Given the description of an element on the screen output the (x, y) to click on. 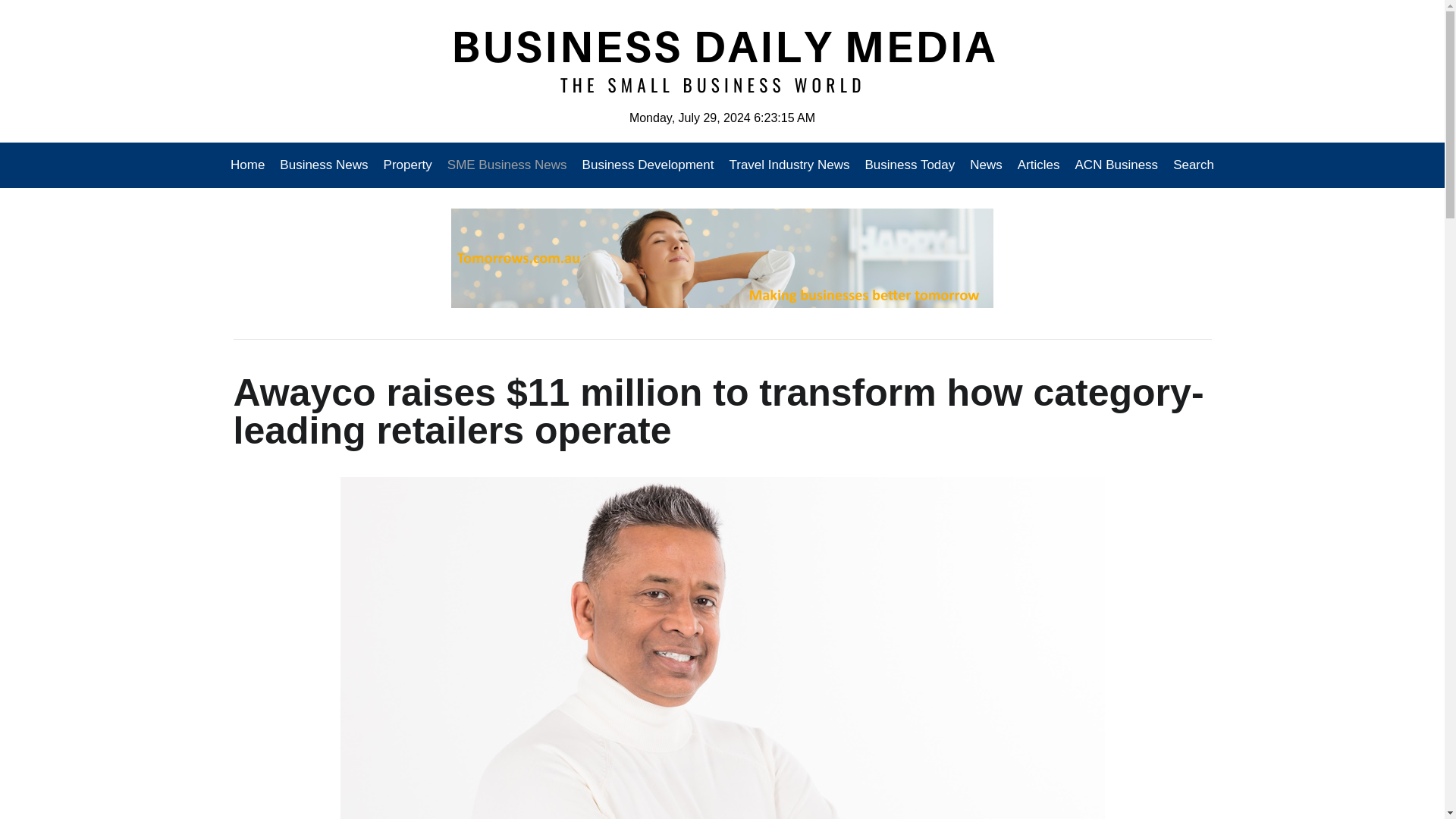
Articles (1038, 165)
Business Development (648, 165)
SME Business News (507, 165)
Travel Industry News (788, 165)
ACN Business (1116, 165)
Business Today (909, 165)
News (986, 165)
Business News (323, 165)
Home (251, 165)
Search (1190, 165)
Property (407, 165)
